Given the description of an element on the screen output the (x, y) to click on. 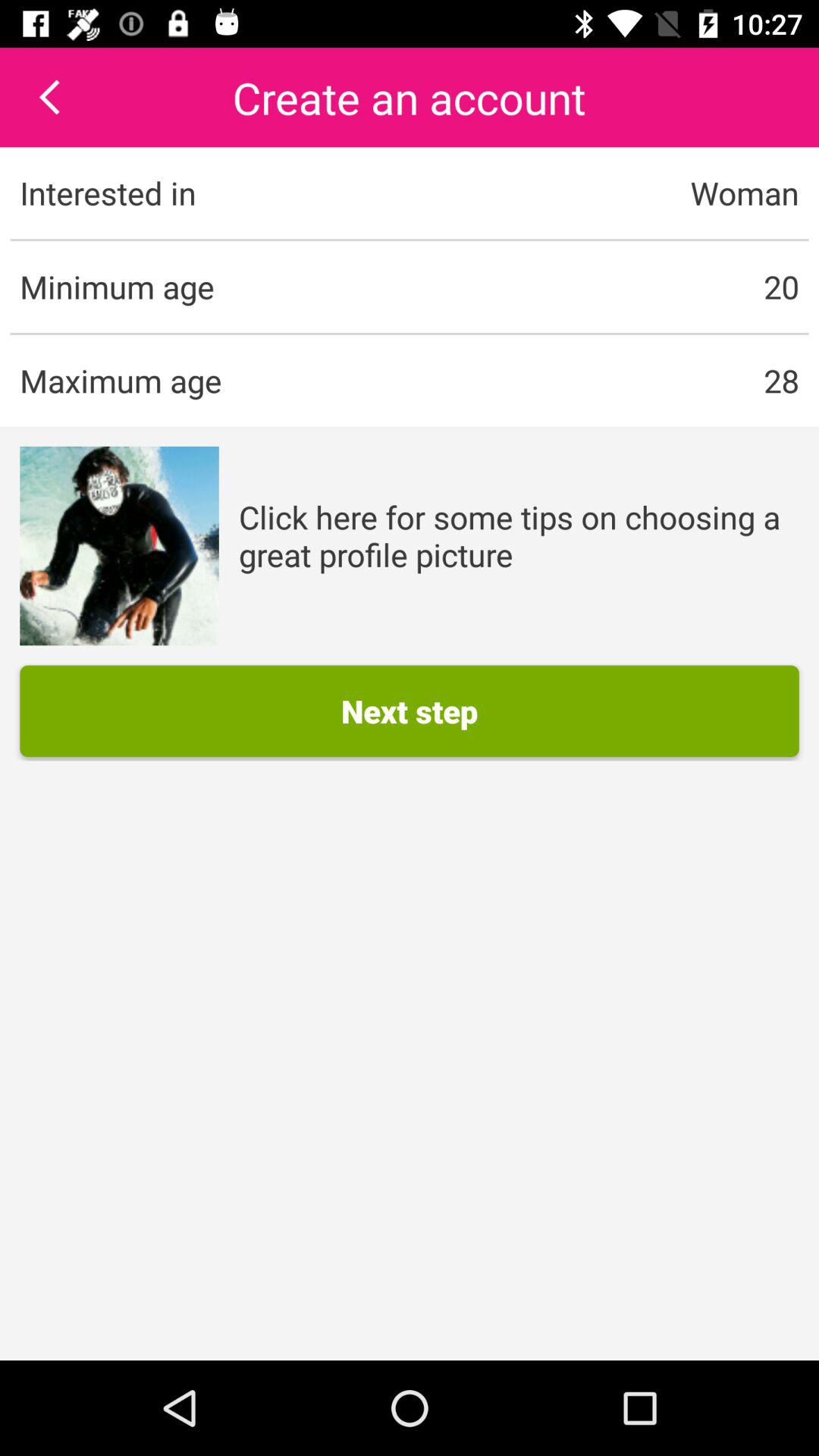
tap the next step button (409, 711)
